Given the description of an element on the screen output the (x, y) to click on. 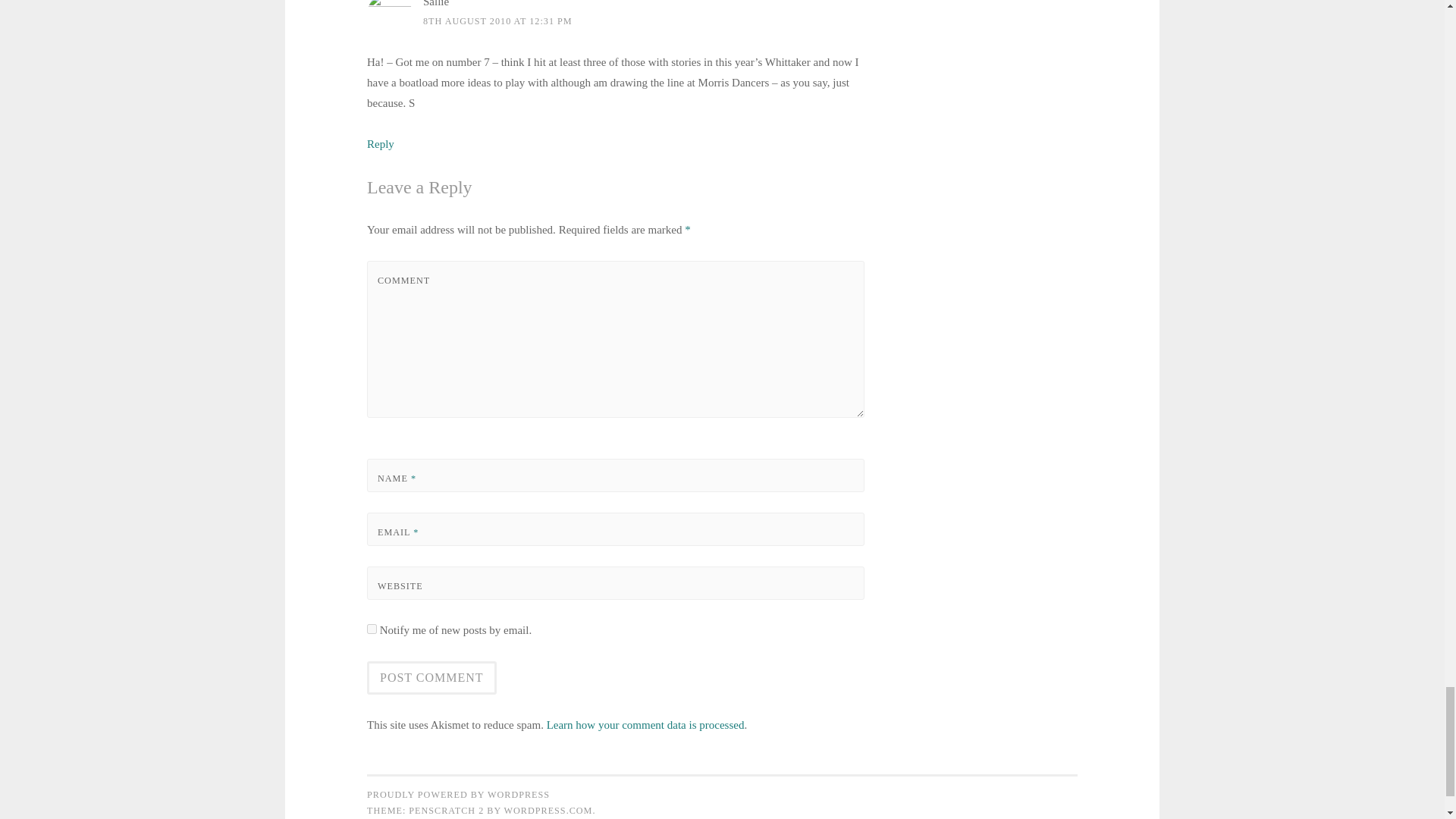
Reply (380, 143)
subscribe (371, 628)
Post Comment (431, 677)
8TH AUGUST 2010 AT 12:31 PM (497, 20)
